Given the description of an element on the screen output the (x, y) to click on. 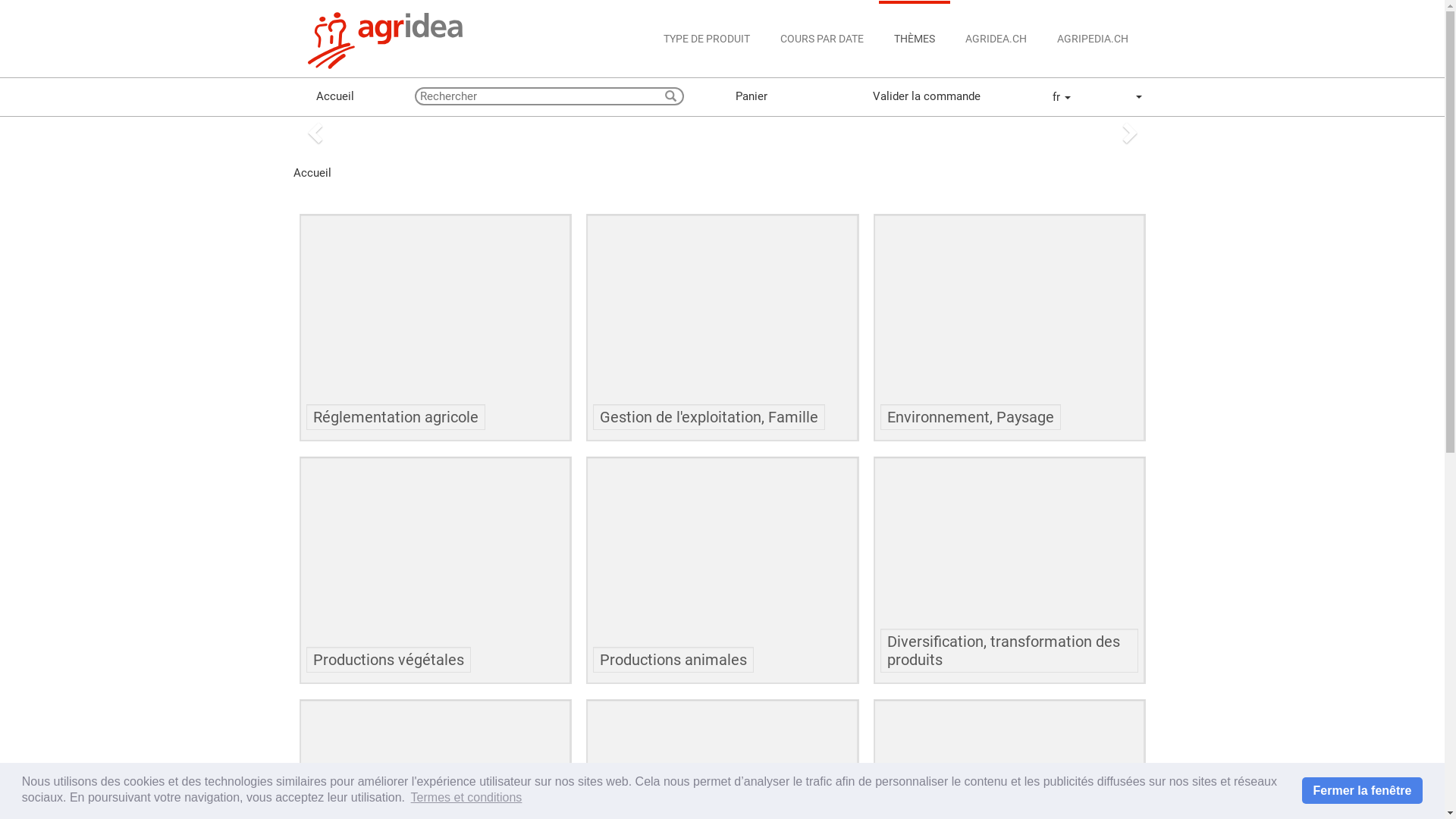
Diversification, transformation des produits Element type: text (1009, 570)
Valider la commande Element type: hover (858, 96)
Environnement, Paysage Element type: text (1009, 327)
Accueil Element type: text (312, 172)
AGRIDEA.CH Element type: text (995, 38)
Productions animales Element type: text (721, 570)
AGRIPEDIA.CH Element type: text (1092, 38)
Gestion de l'exploitation, Famille Element type: text (721, 327)
TYPE DE PRODUIT Element type: text (705, 38)
Termes et conditions Element type: text (465, 797)
COURS PAR DATE Element type: text (821, 38)
Valider la commande Element type: text (913, 96)
Accueil Element type: text (321, 96)
Accueil Element type: hover (300, 96)
Panier Element type: text (740, 96)
Panier Element type: hover (722, 96)
